Given the description of an element on the screen output the (x, y) to click on. 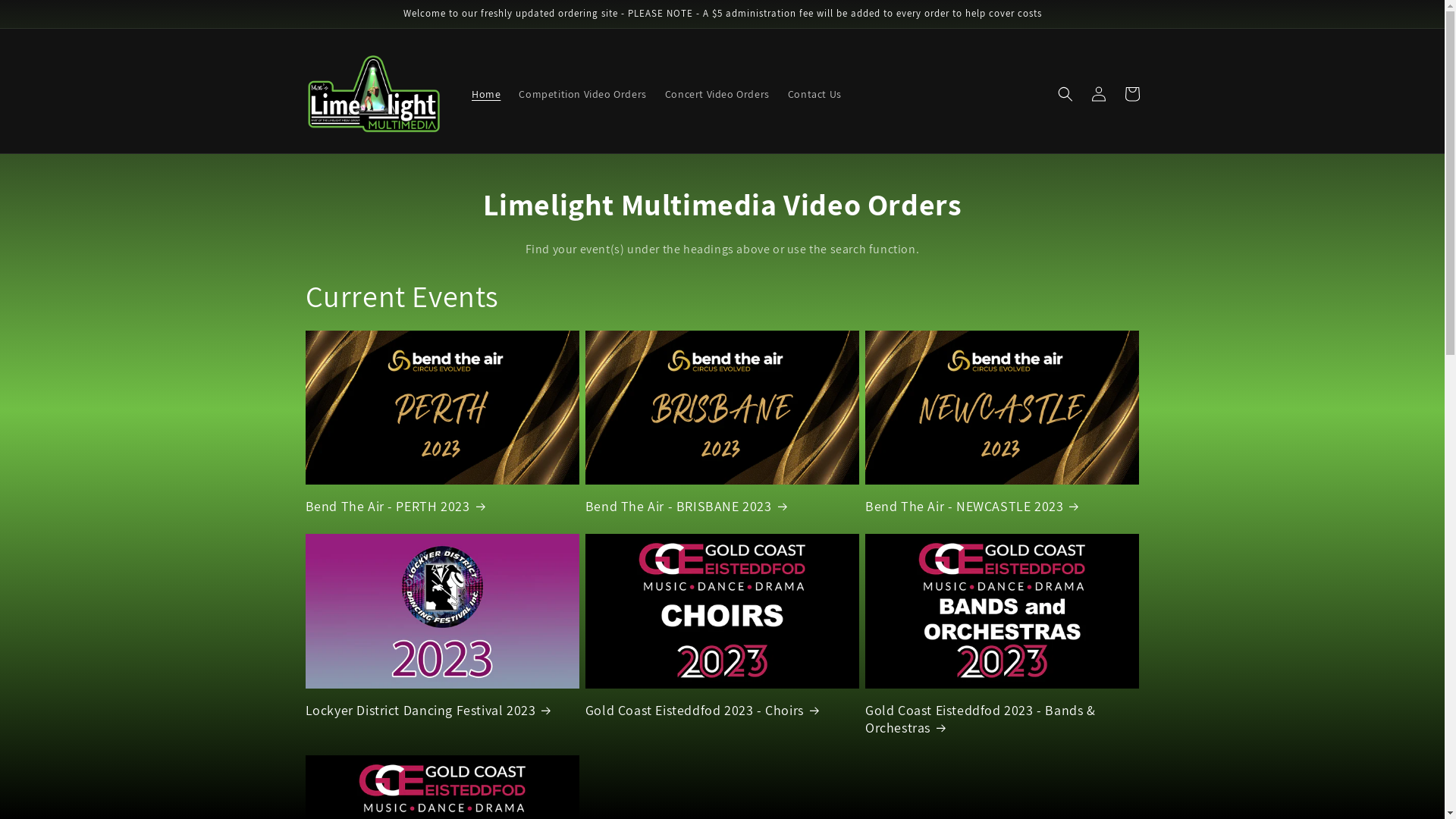
Cart Element type: text (1131, 93)
Log in Element type: text (1097, 93)
Gold Coast Eisteddfod 2023 - Bands & Orchestras Element type: text (1002, 719)
Bend The Air - NEWCASTLE 2023 Element type: text (1002, 505)
Concert Video Orders Element type: text (716, 93)
Contact Us Element type: text (814, 93)
Competition Video Orders Element type: text (582, 93)
Lockyer District Dancing Festival 2023 Element type: text (441, 709)
Gold Coast Eisteddfod 2023 - Choirs Element type: text (722, 709)
Bend The Air - BRISBANE 2023 Element type: text (722, 505)
Bend The Air - PERTH 2023 Element type: text (441, 505)
Home Element type: text (485, 93)
